Given the description of an element on the screen output the (x, y) to click on. 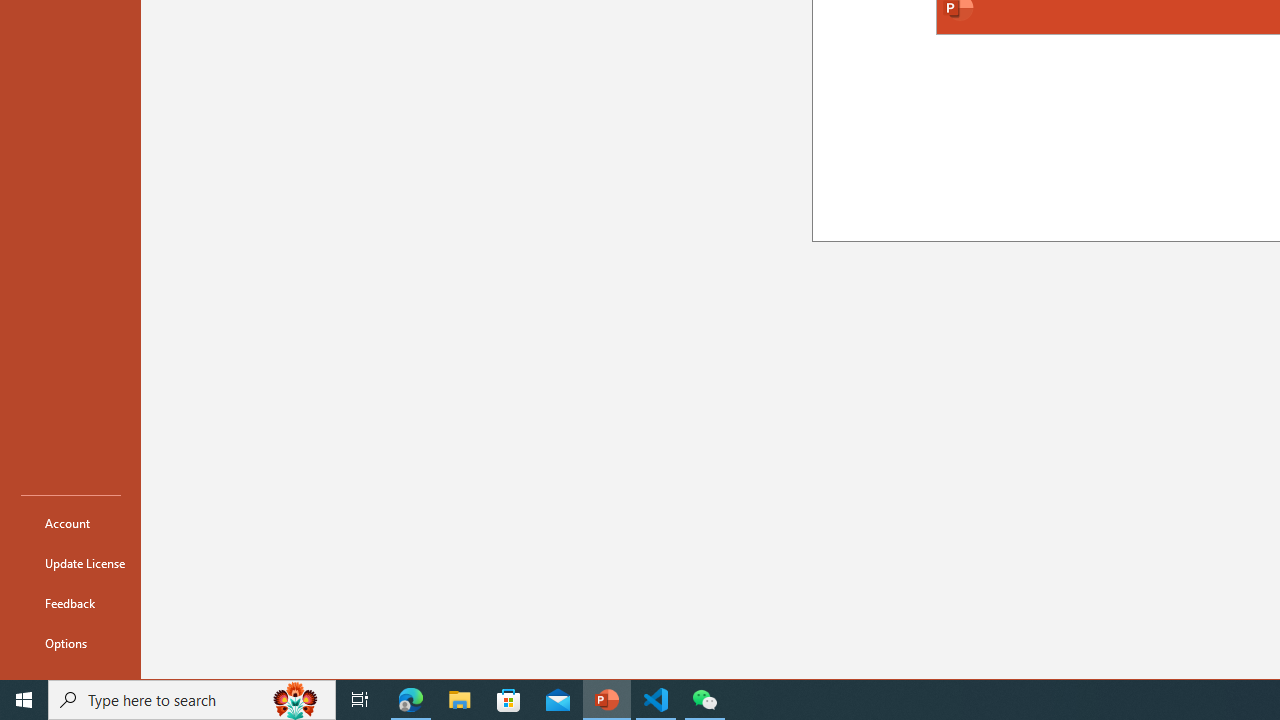
File Explorer (460, 699)
Type here to search (191, 699)
Microsoft Edge - 1 running window (411, 699)
Options (70, 642)
Feedback (70, 602)
Account (70, 522)
Visual Studio Code - 1 running window (656, 699)
Start (24, 699)
Microsoft Store (509, 699)
Task View (359, 699)
Update License (70, 562)
WeChat - 1 running window (704, 699)
Search highlights icon opens search home window (295, 699)
PowerPoint - 1 running window (607, 699)
